Given the description of an element on the screen output the (x, y) to click on. 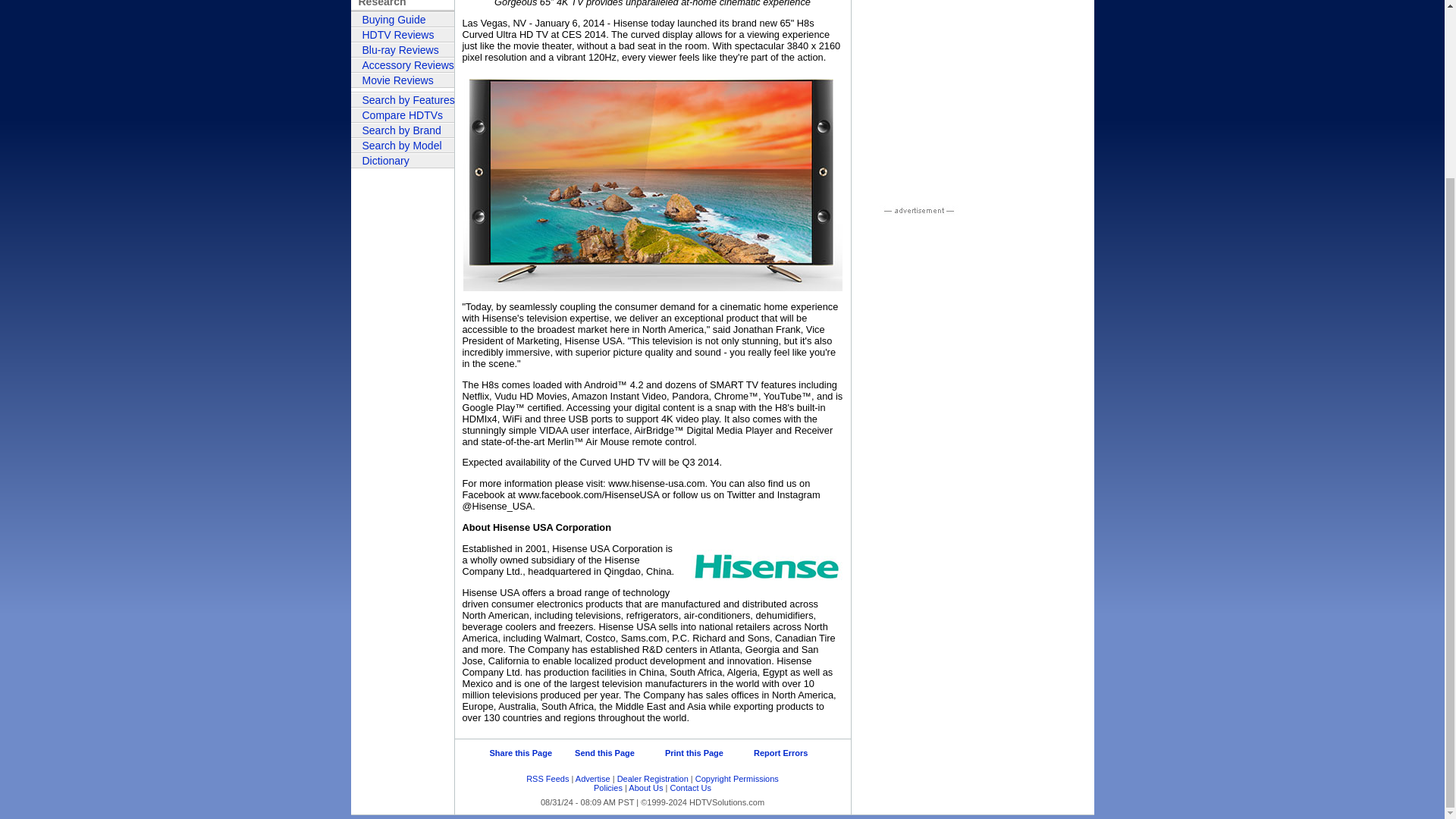
Policies (608, 787)
Print this Page (686, 752)
Copyright Permissions (736, 777)
Buying Guide (401, 19)
Send this Page (596, 752)
Movie Reviews (401, 79)
Search by Features (401, 99)
Dealer Registration (652, 777)
About Us (645, 787)
Share this Page (521, 752)
